Given the description of an element on the screen output the (x, y) to click on. 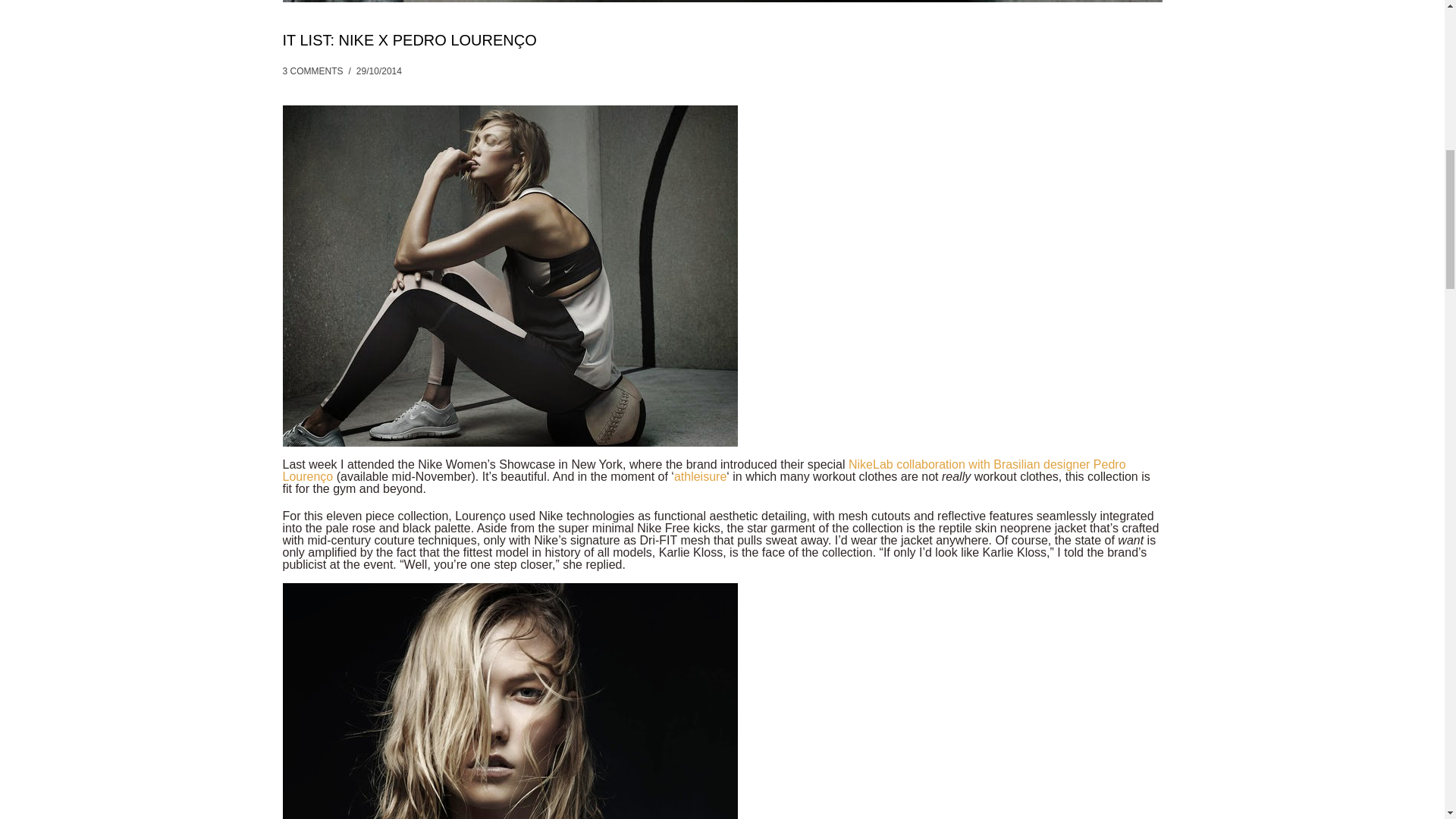
3 COMMENTS (312, 71)
athleisure (700, 476)
